Given the description of an element on the screen output the (x, y) to click on. 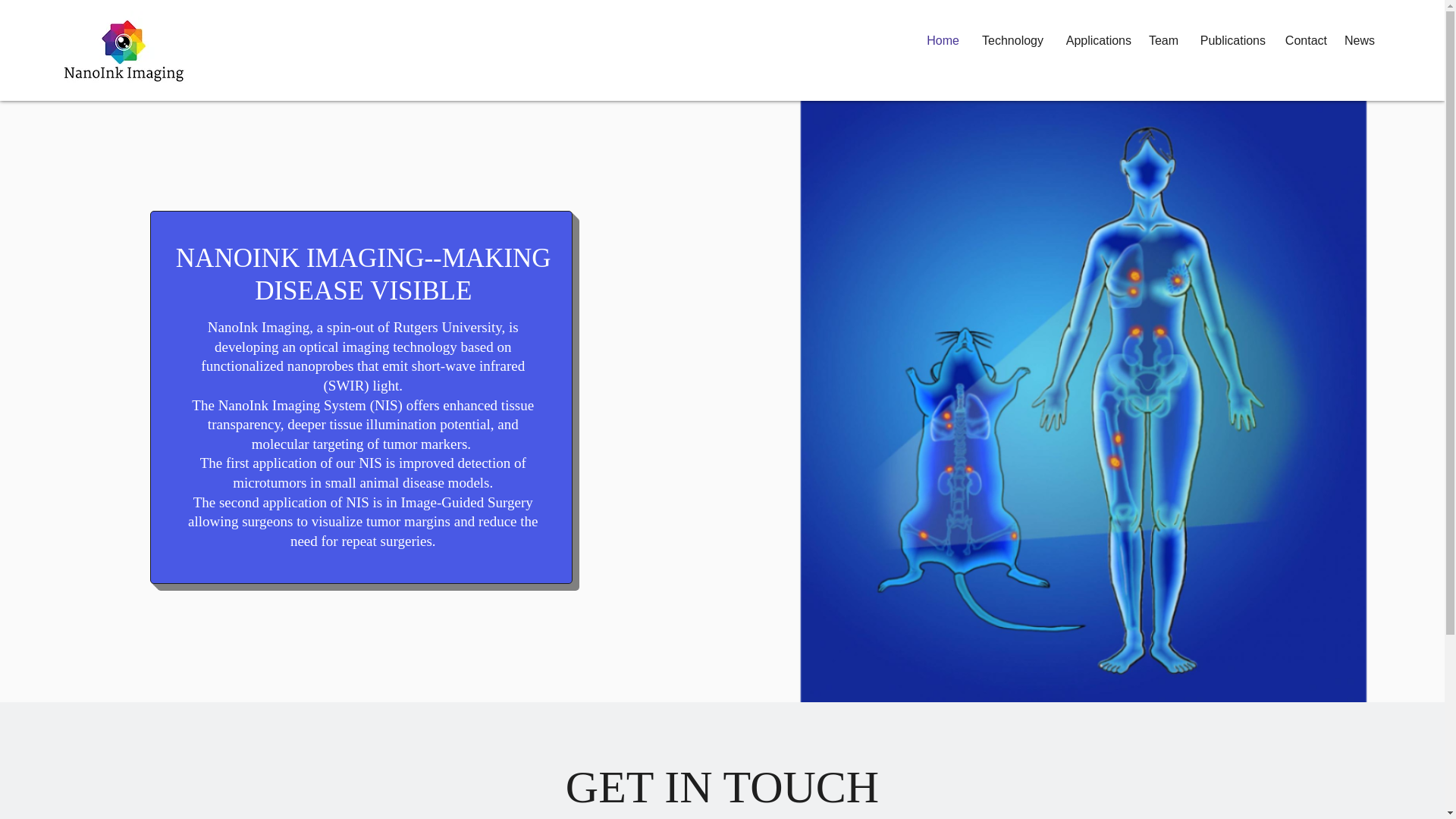
Applications (1094, 40)
News (1358, 40)
Contact (1303, 40)
Publications (1229, 40)
Technology (1008, 40)
Home (940, 40)
Team (1162, 40)
